Given the description of an element on the screen output the (x, y) to click on. 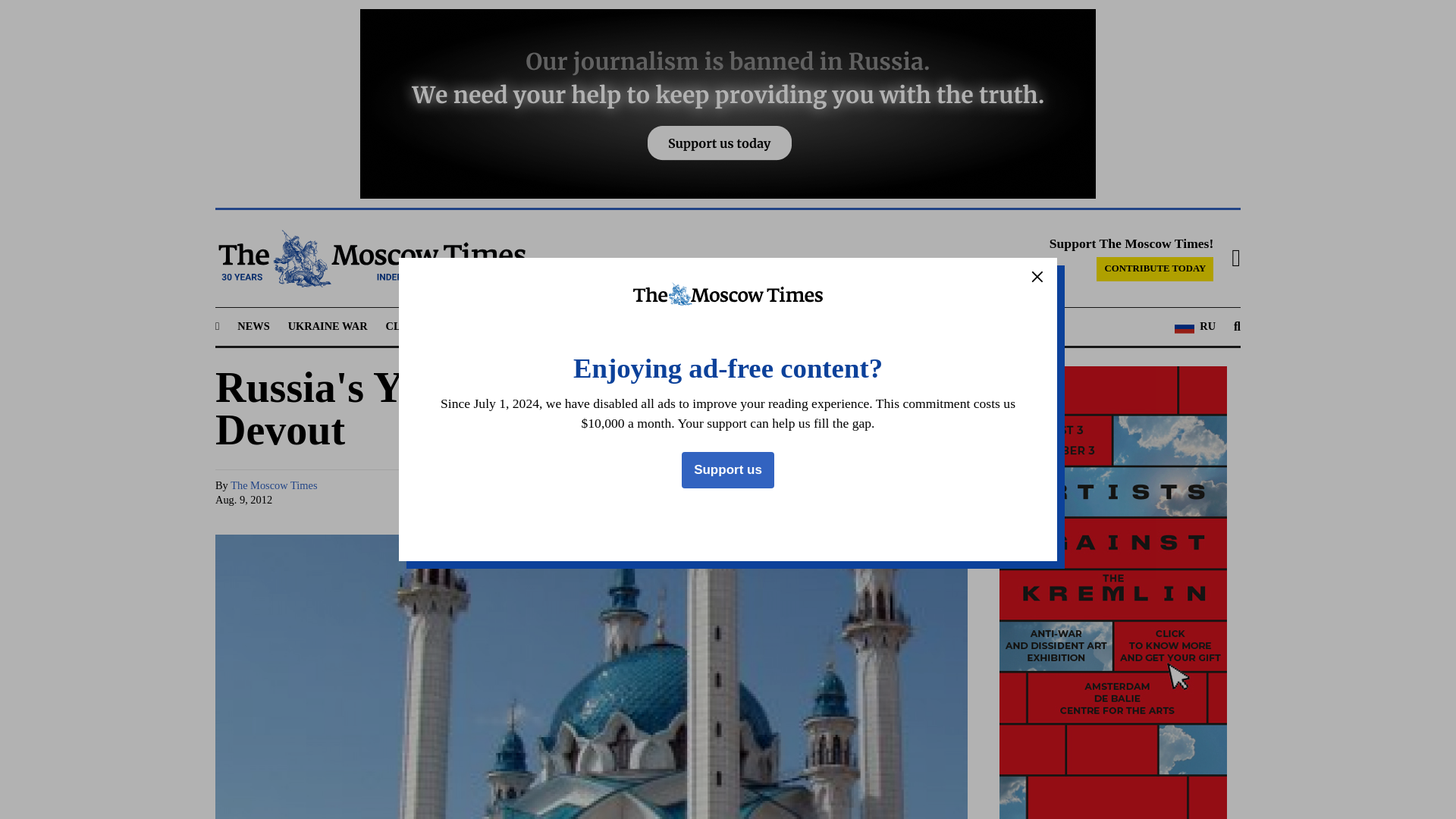
Share on Telegram (838, 492)
PODCASTS (780, 326)
CONTRIBUTE TODAY (1154, 269)
UKRAINE WAR (328, 326)
MEANWHILE (629, 326)
BUSINESS (550, 326)
RU (1194, 326)
OPINION (708, 326)
Share on Flipboard (925, 492)
Share on Twitter (810, 492)
ARCHIVE (853, 326)
NEWS (253, 326)
The Moscow Times - Independent News from Russia (370, 258)
Share on Facebook (781, 492)
Support us (727, 470)
